Given the description of an element on the screen output the (x, y) to click on. 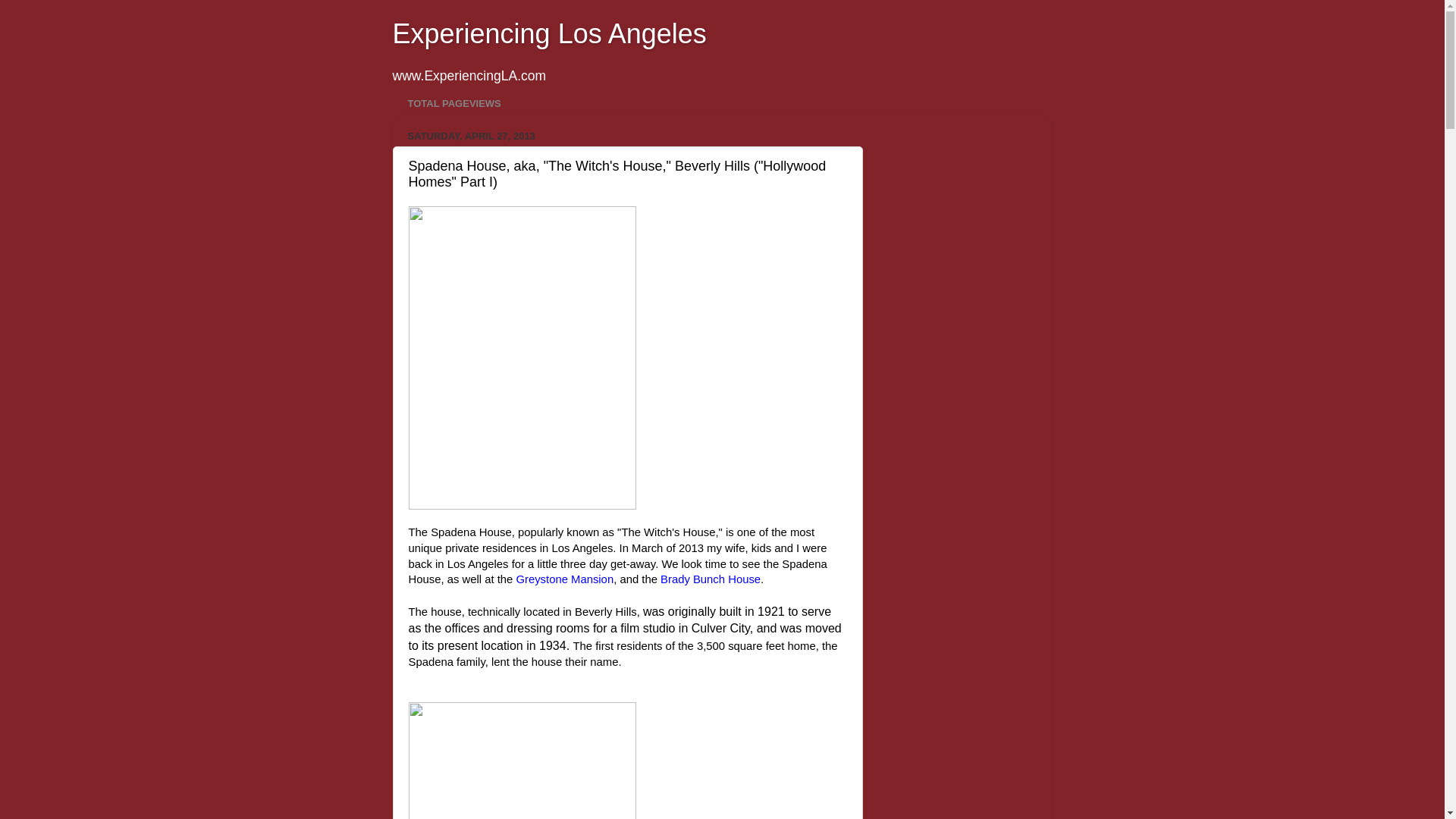
Greystone Mansion (563, 579)
Brady Bunch House (710, 579)
Experiencing Los Angeles (549, 33)
